Given the description of an element on the screen output the (x, y) to click on. 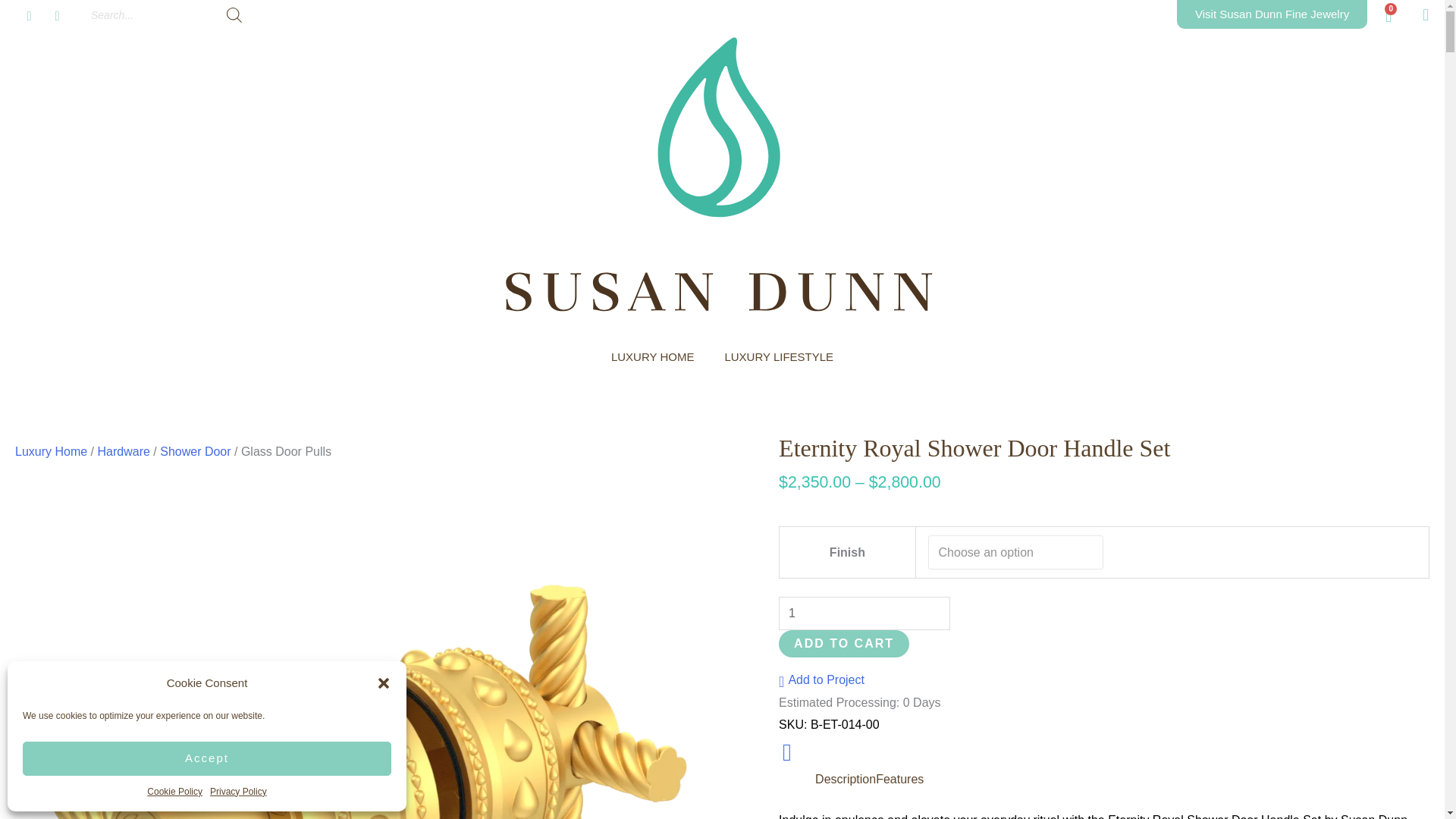
1 (864, 613)
Privacy Policy (237, 791)
Cart (1388, 17)
Cookie Policy (174, 791)
Visit Susan Dunn Fine Jewelry (1271, 14)
Accept (207, 758)
LUXURY HOME (652, 356)
